Given the description of an element on the screen output the (x, y) to click on. 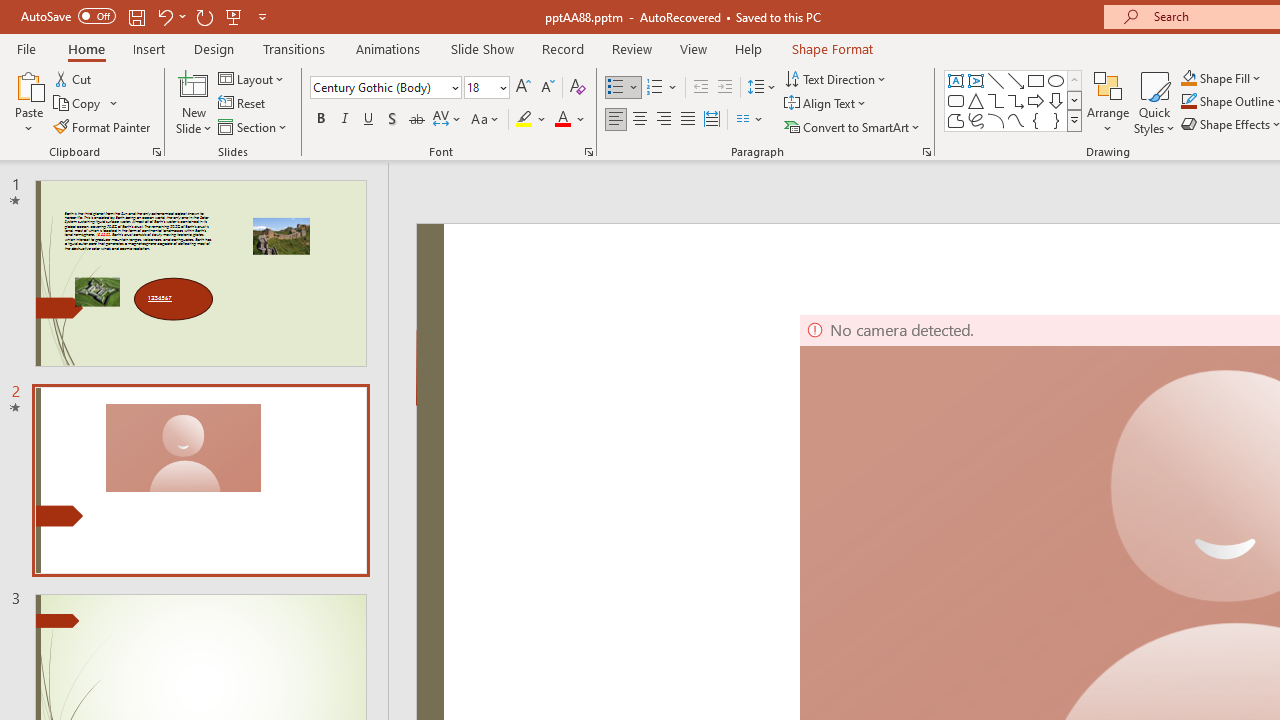
Shape Outline Teal, Accent 1 (1188, 101)
